Given the description of an element on the screen output the (x, y) to click on. 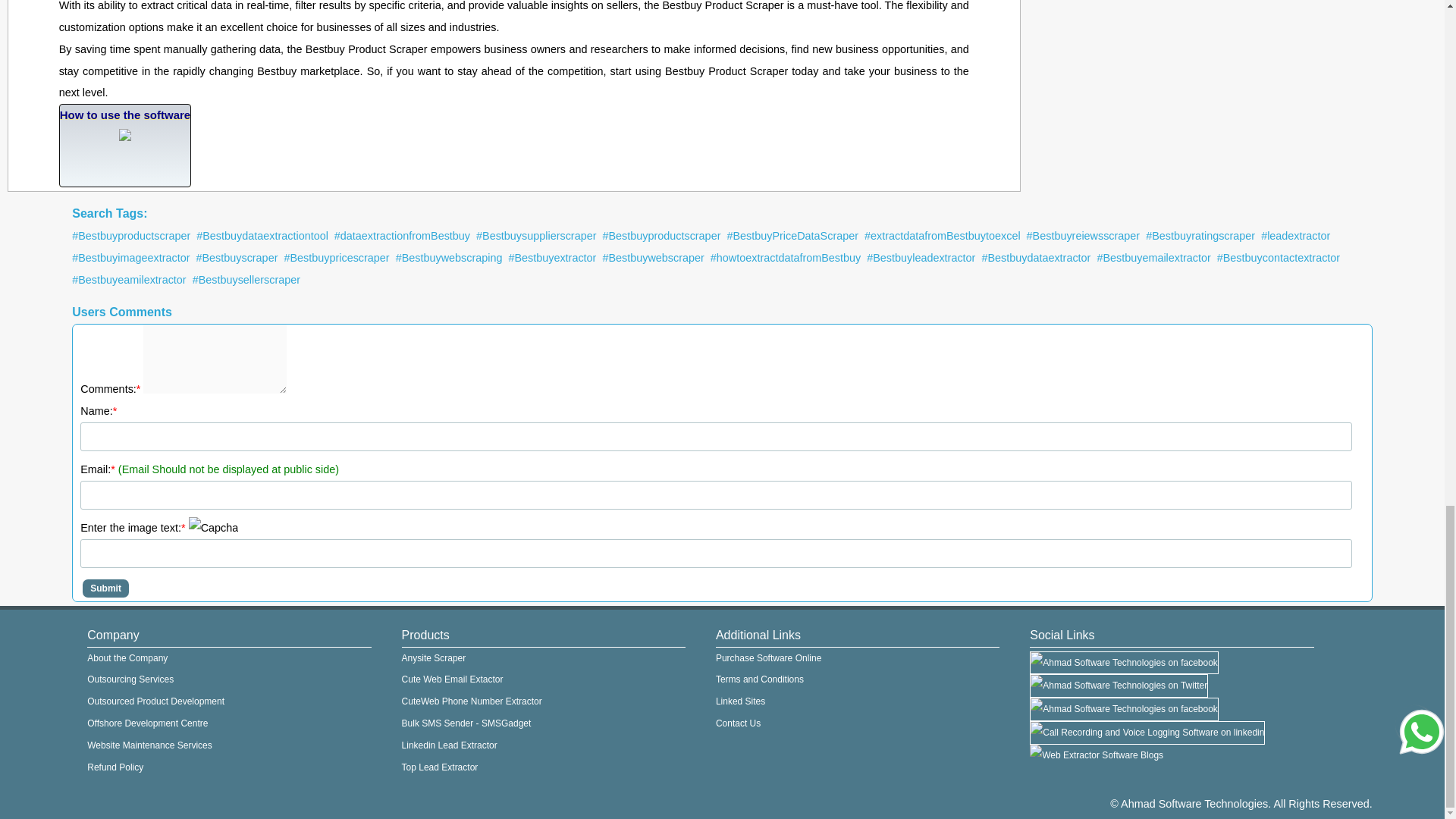
Video How to use United Leads Scraper (125, 145)
Blogs (1096, 755)
Submit (105, 588)
